Given the description of an element on the screen output the (x, y) to click on. 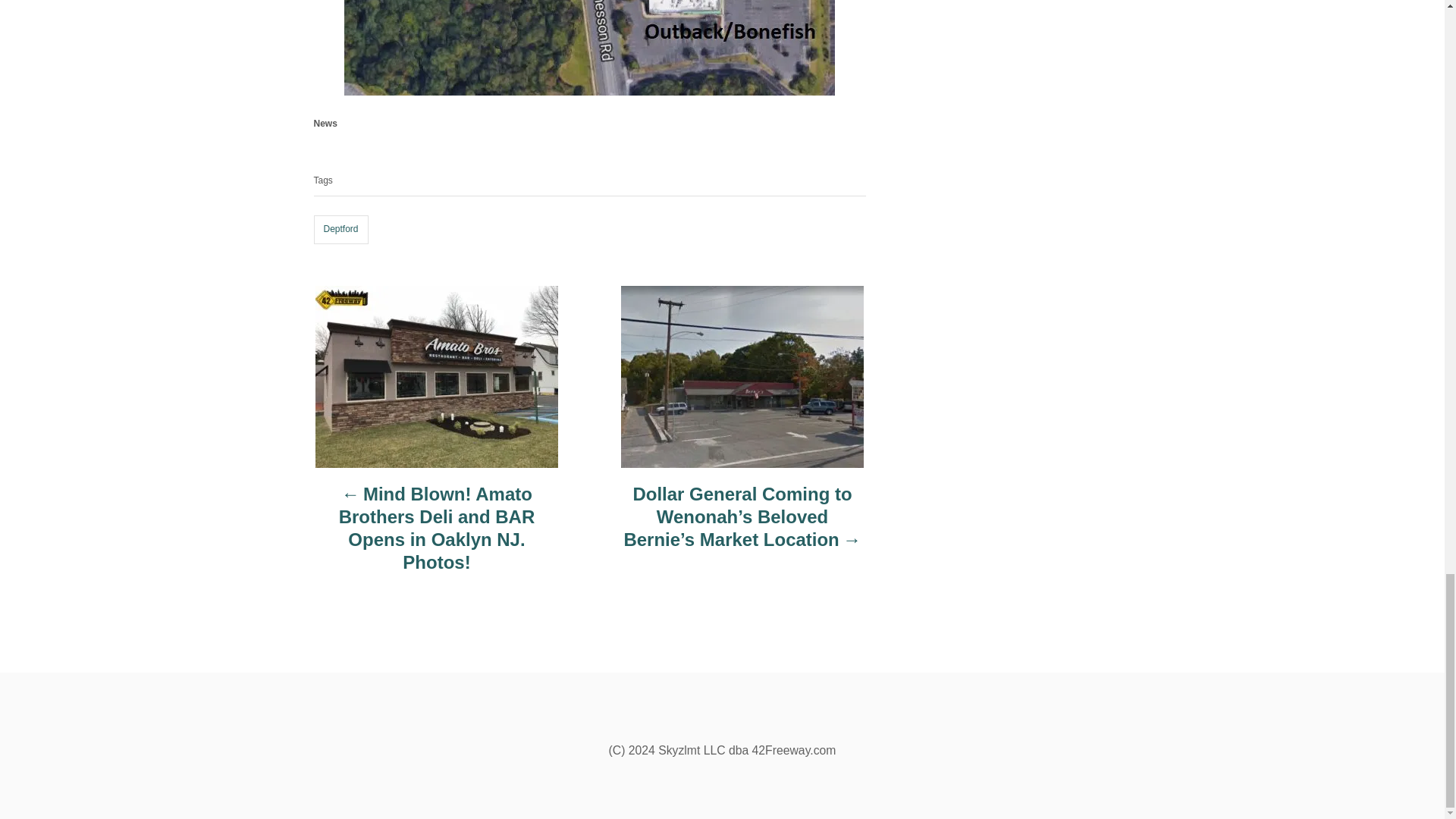
Deptford (341, 229)
News (325, 122)
